Given the description of an element on the screen output the (x, y) to click on. 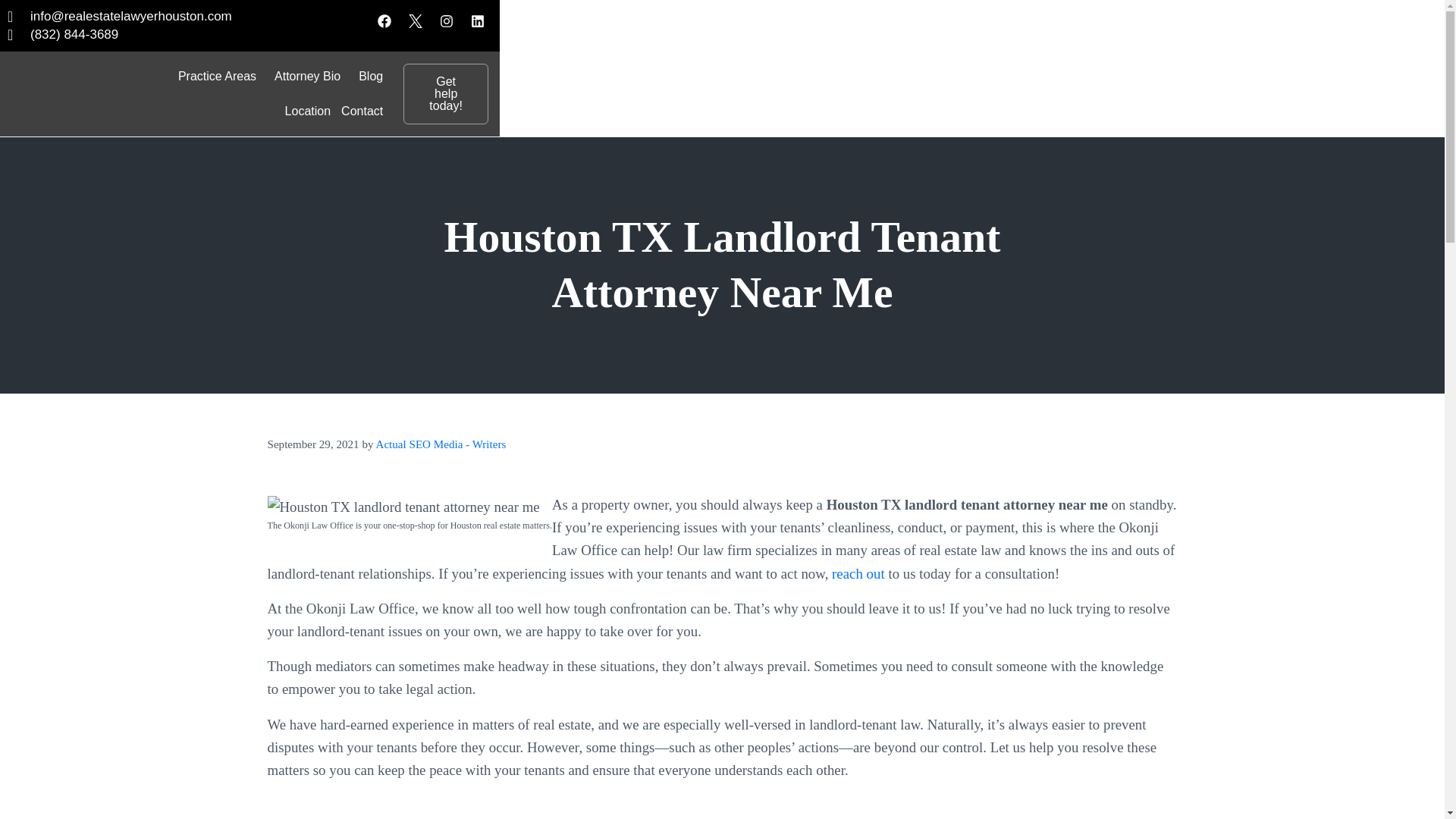
Contact (362, 111)
Actual SEO Media - Writers (440, 444)
Blog (370, 76)
reach out (858, 573)
Attorney Bio (311, 76)
Location (307, 111)
Practice Areas (221, 76)
Get help today! (445, 93)
